Given the description of an element on the screen output the (x, y) to click on. 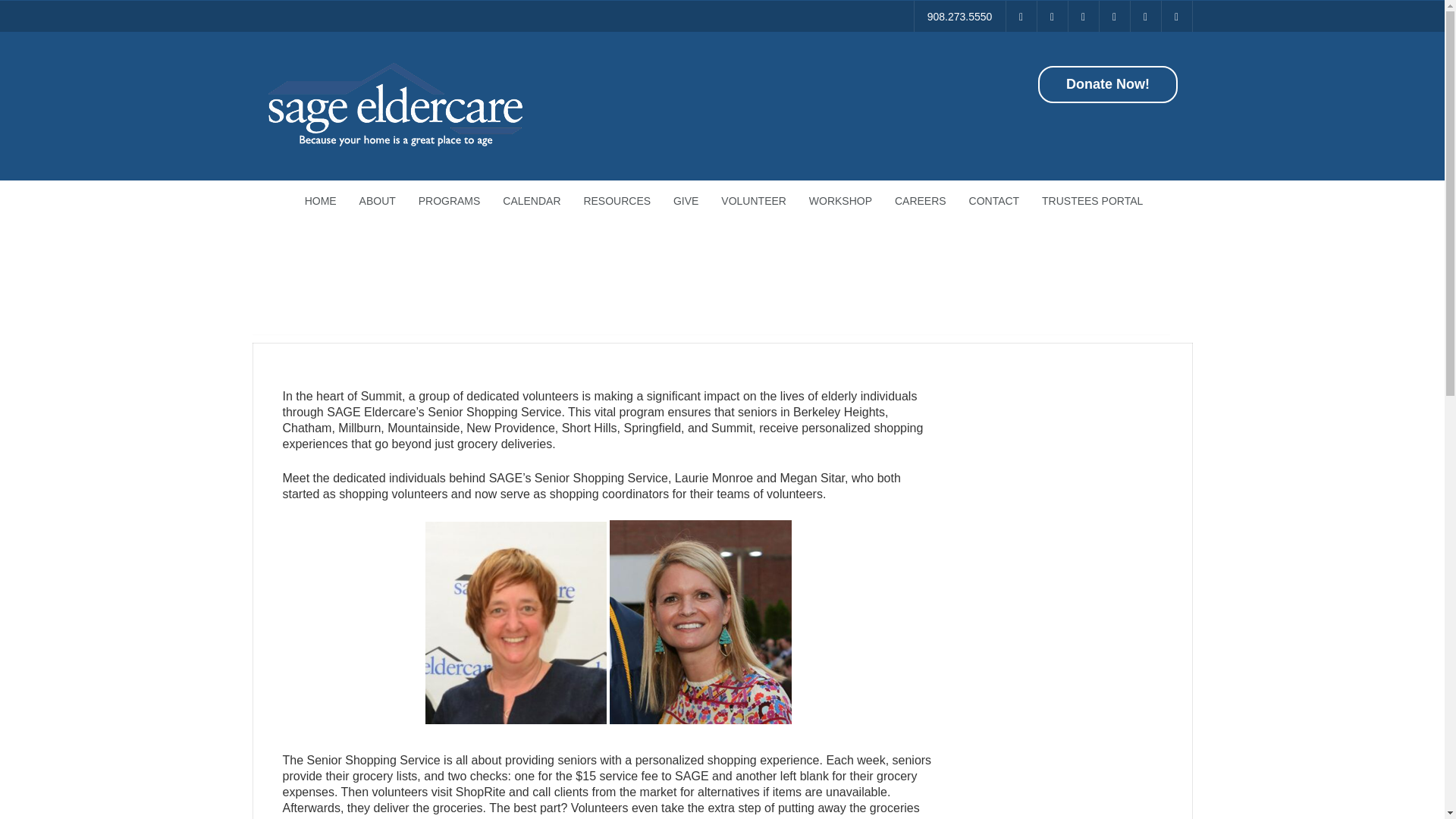
CALENDAR (532, 200)
908.273.5550 (960, 15)
YouTube (1176, 15)
Facebook (1051, 15)
Twitter (1082, 15)
Instagram (1114, 15)
LinkedIn (1144, 15)
WORKSHOP (840, 200)
RESOURCES (617, 200)
HOME (320, 200)
Email (1020, 15)
Donate Now! (1106, 84)
GIVE (686, 200)
SAGE Eldercare - Because your home is a great place to age (394, 143)
VOLUNTEER (753, 200)
